Given the description of an element on the screen output the (x, y) to click on. 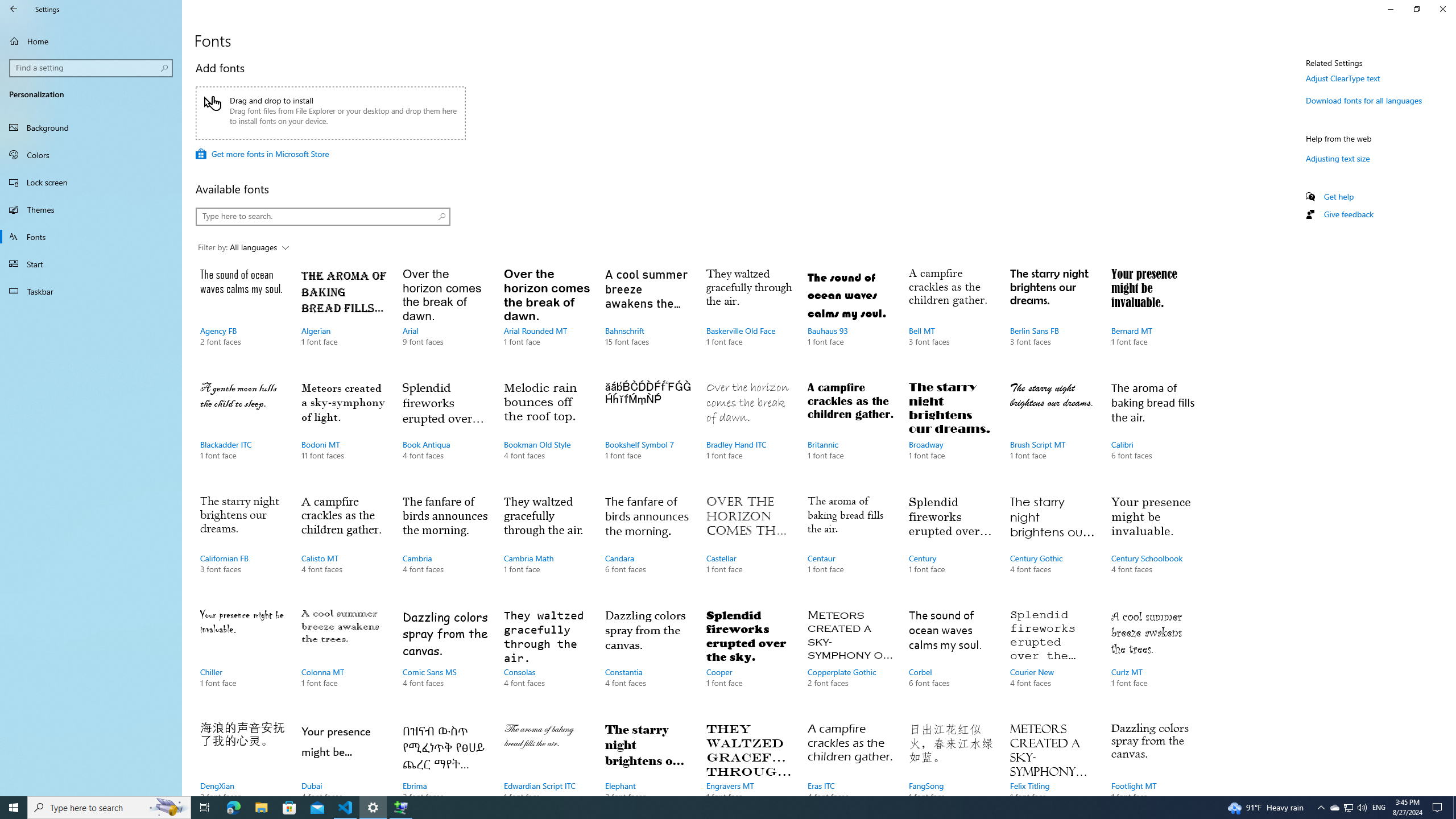
Century, 1 font face (951, 545)
Eras ITC, 4 font faces (850, 756)
